Given the description of an element on the screen output the (x, y) to click on. 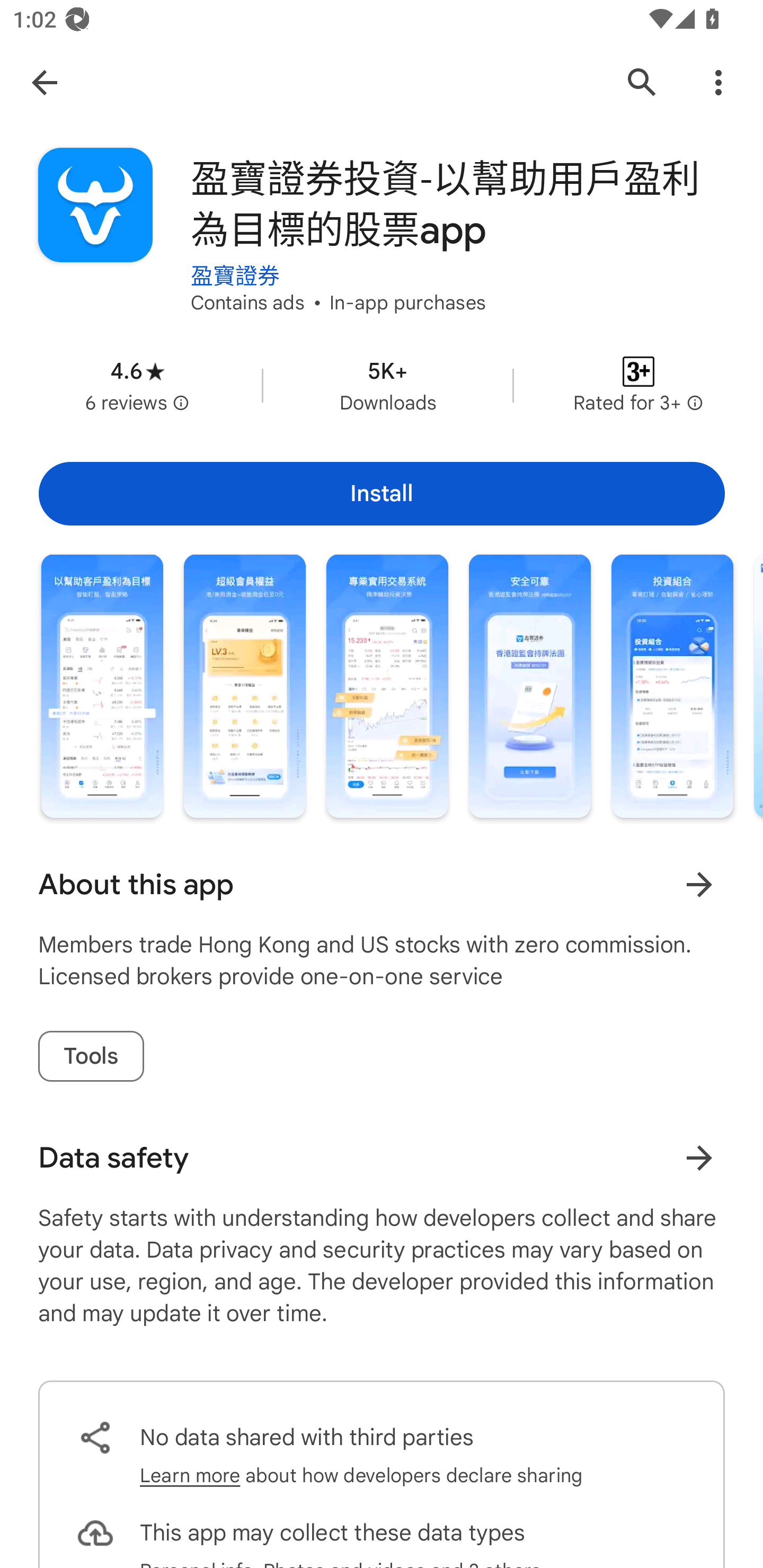
Navigate up (44, 81)
Search Google Play (642, 81)
More Options (718, 81)
盈寶證券 (235, 263)
Average rating 4.6 stars in 6 reviews (137, 385)
Content rating Rated for 3+ (638, 385)
Install (381, 493)
Screenshot "1" of "8" (102, 685)
Screenshot "2" of "8" (244, 685)
Screenshot "3" of "8" (387, 685)
Screenshot "4" of "8" (529, 685)
Screenshot "5" of "8" (672, 685)
About this app Learn more About this app (381, 884)
Learn more About this app (699, 884)
Tools tag (91, 1055)
Data safety Learn more about data safety (381, 1157)
Learn more about data safety (699, 1157)
Learn more about how developers declare sharing (361, 1475)
